Given the description of an element on the screen output the (x, y) to click on. 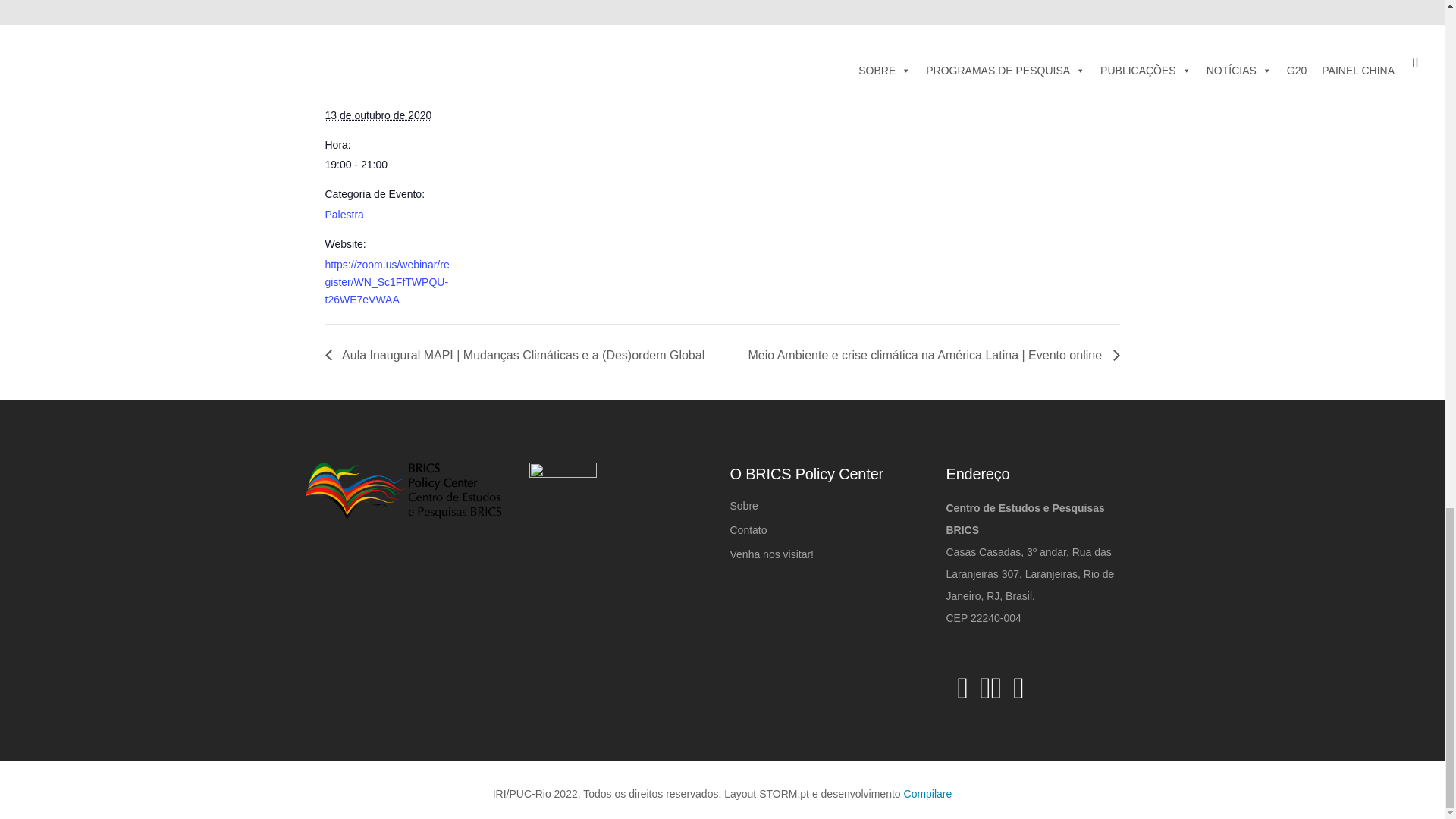
2020-10-13 (387, 164)
2020-10-13 (377, 114)
